Given the description of an element on the screen output the (x, y) to click on. 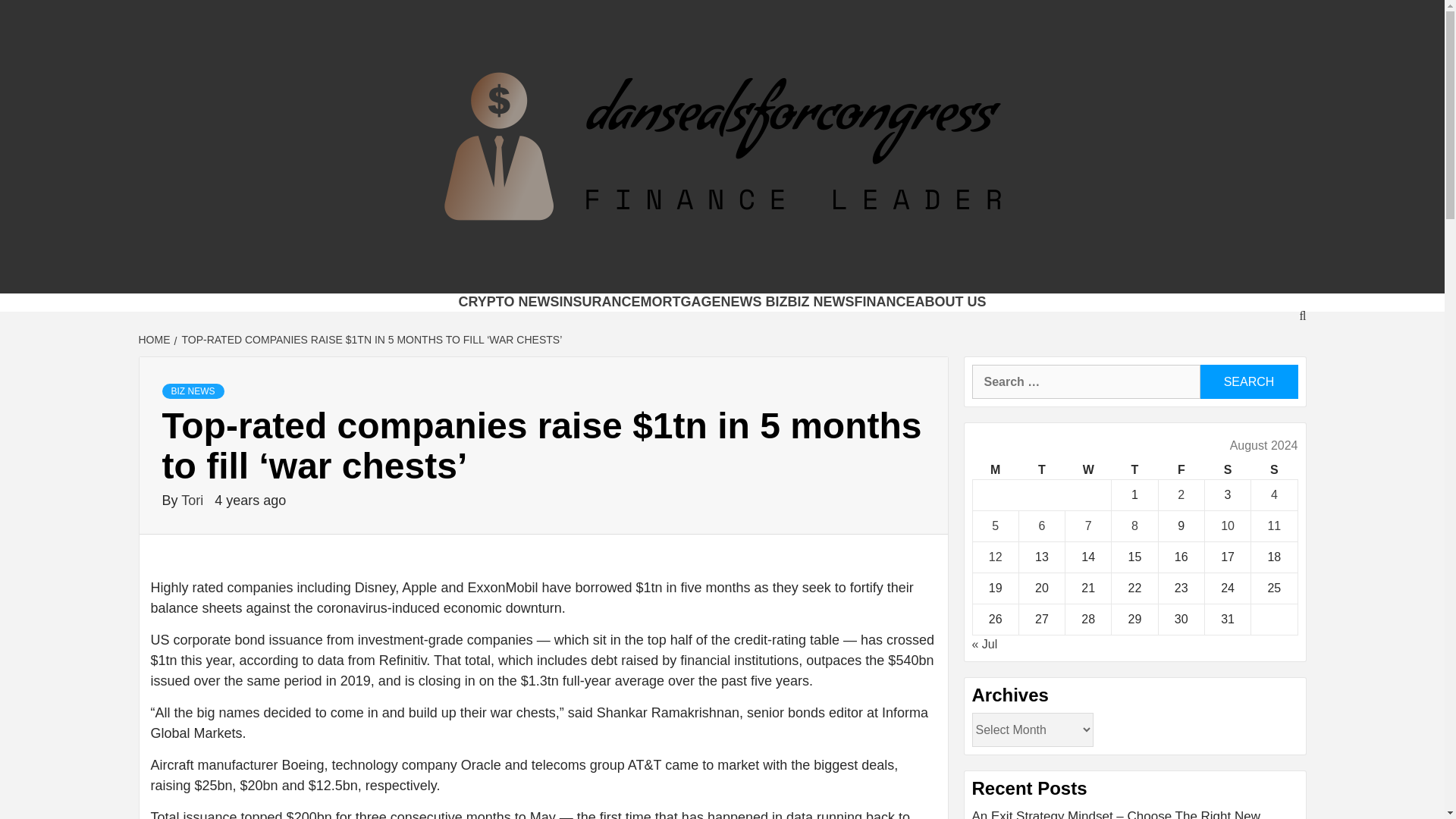
HOME (155, 339)
FINANCE (884, 301)
BIZ NEWS (192, 391)
Sunday (1273, 470)
MORTGAGE (680, 301)
Tori (193, 500)
10 (1227, 525)
Search (1248, 381)
NEWS BIZ (753, 301)
ABOUT US (951, 301)
